Given the description of an element on the screen output the (x, y) to click on. 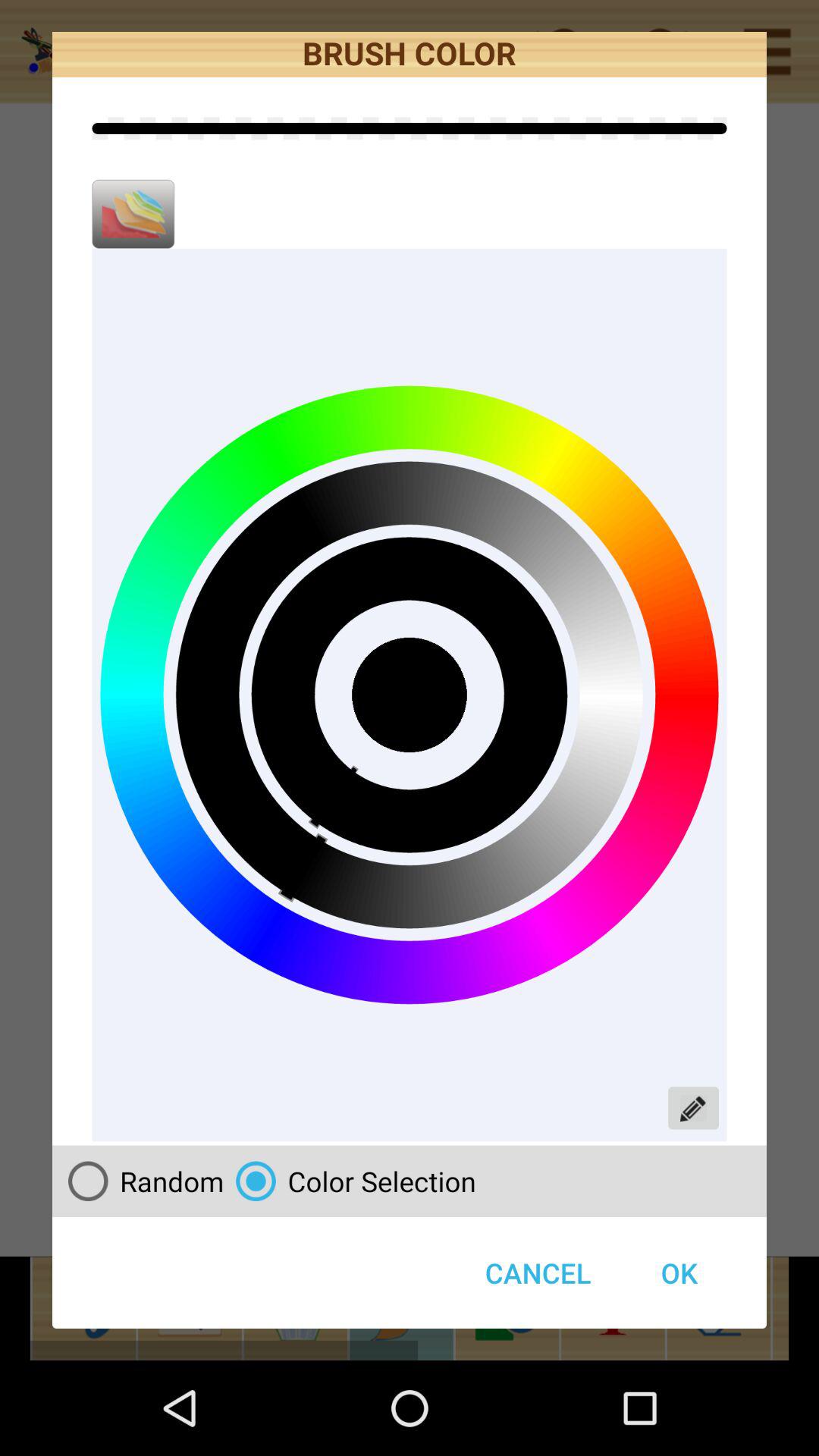
click the cancel button (538, 1272)
